Given the description of an element on the screen output the (x, y) to click on. 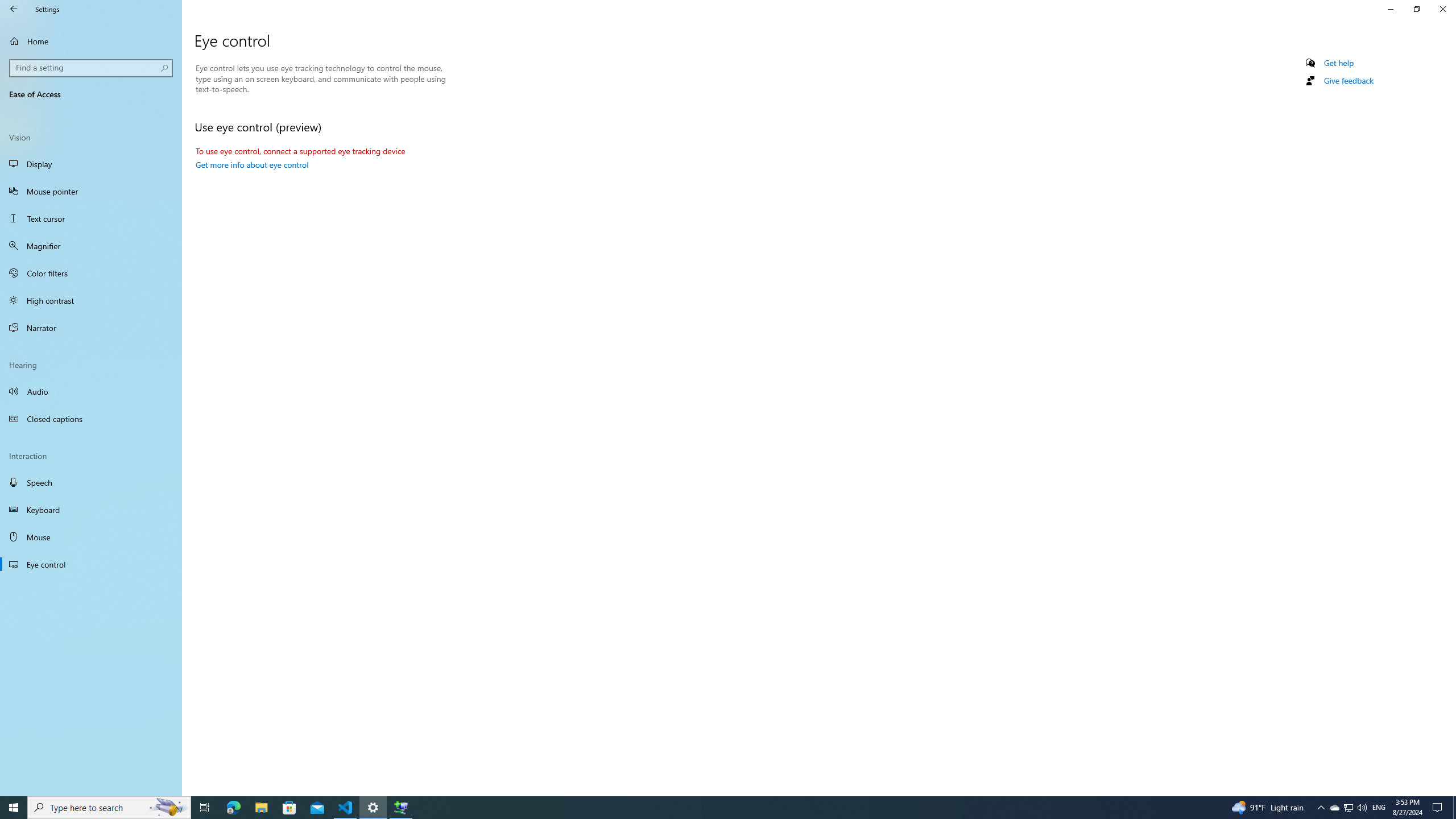
Audio (91, 390)
Settings - 1 running window (373, 807)
Restore Settings (1416, 9)
Get more info about eye control (251, 164)
Text cursor (91, 217)
Back (13, 9)
Mouse (91, 536)
Running applications (706, 807)
Give feedback (1348, 80)
Narrator (91, 327)
